Given the description of an element on the screen output the (x, y) to click on. 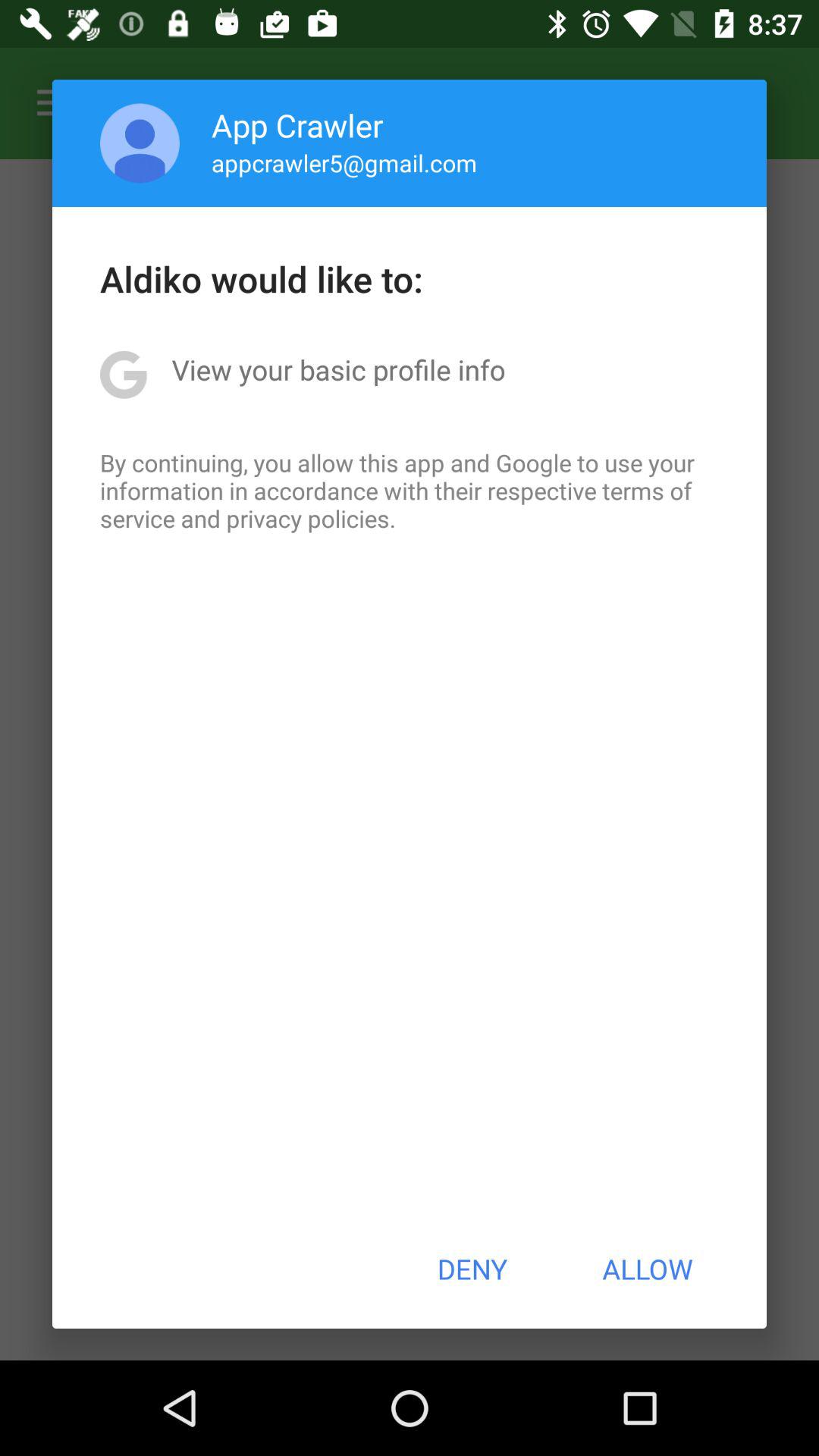
launch the item above appcrawler5@gmail.com (297, 124)
